Given the description of an element on the screen output the (x, y) to click on. 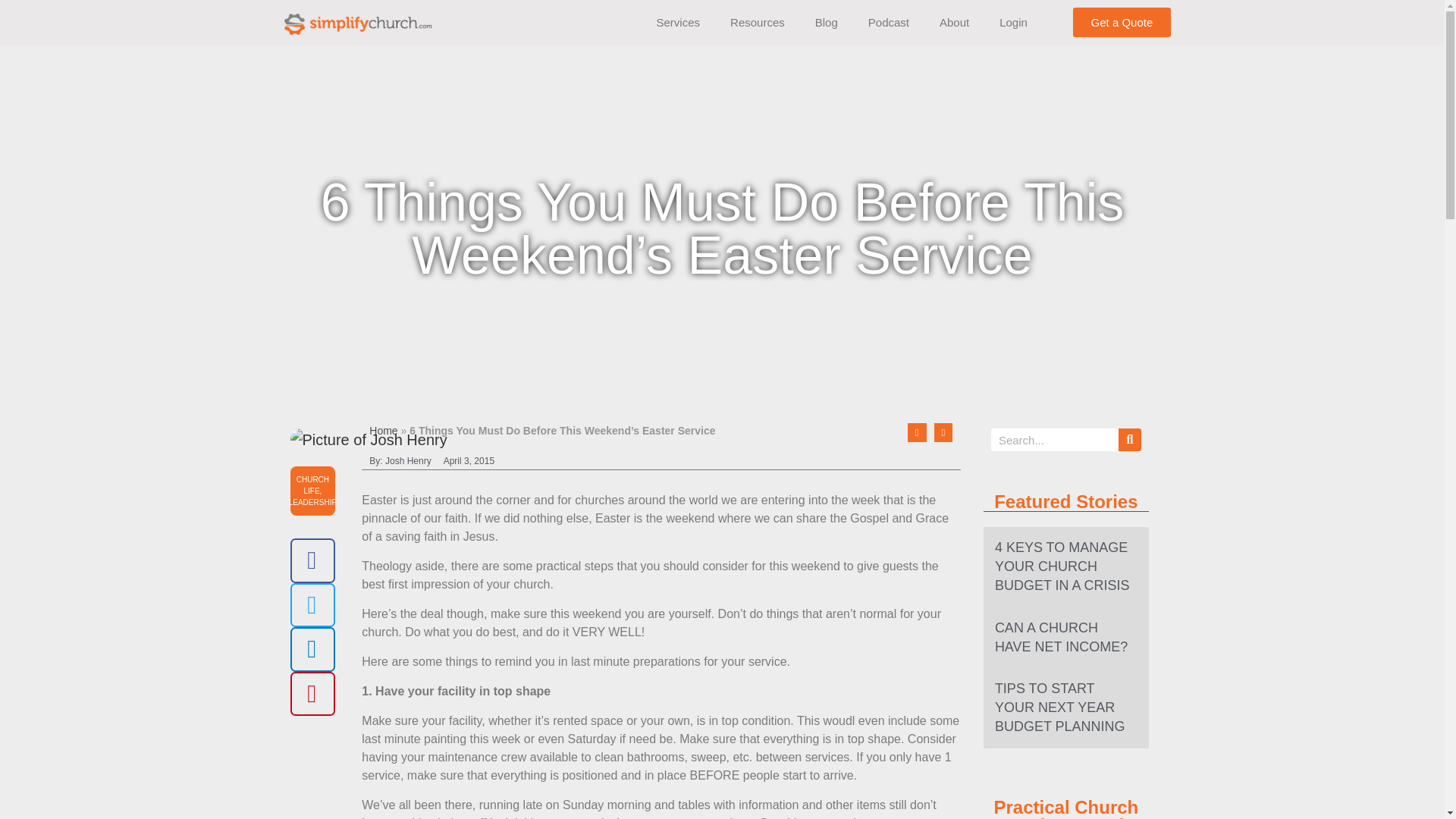
April 3, 2015 (469, 460)
By: Josh Henry (399, 460)
About (954, 21)
4 KEYS TO MANAGE YOUR CHURCH BUDGET IN A CRISIS (1061, 565)
TIPS TO START YOUR NEXT YEAR BUDGET PLANNING (1059, 706)
CAN A CHURCH HAVE NET INCOME? (1060, 636)
LEADERSHIP (312, 501)
Blog (826, 21)
Login (1013, 21)
Resources (756, 21)
Home (383, 430)
Get a Quote (1122, 21)
CHURCH LIFE (313, 485)
Podcast (888, 21)
Services (679, 21)
